Given the description of an element on the screen output the (x, y) to click on. 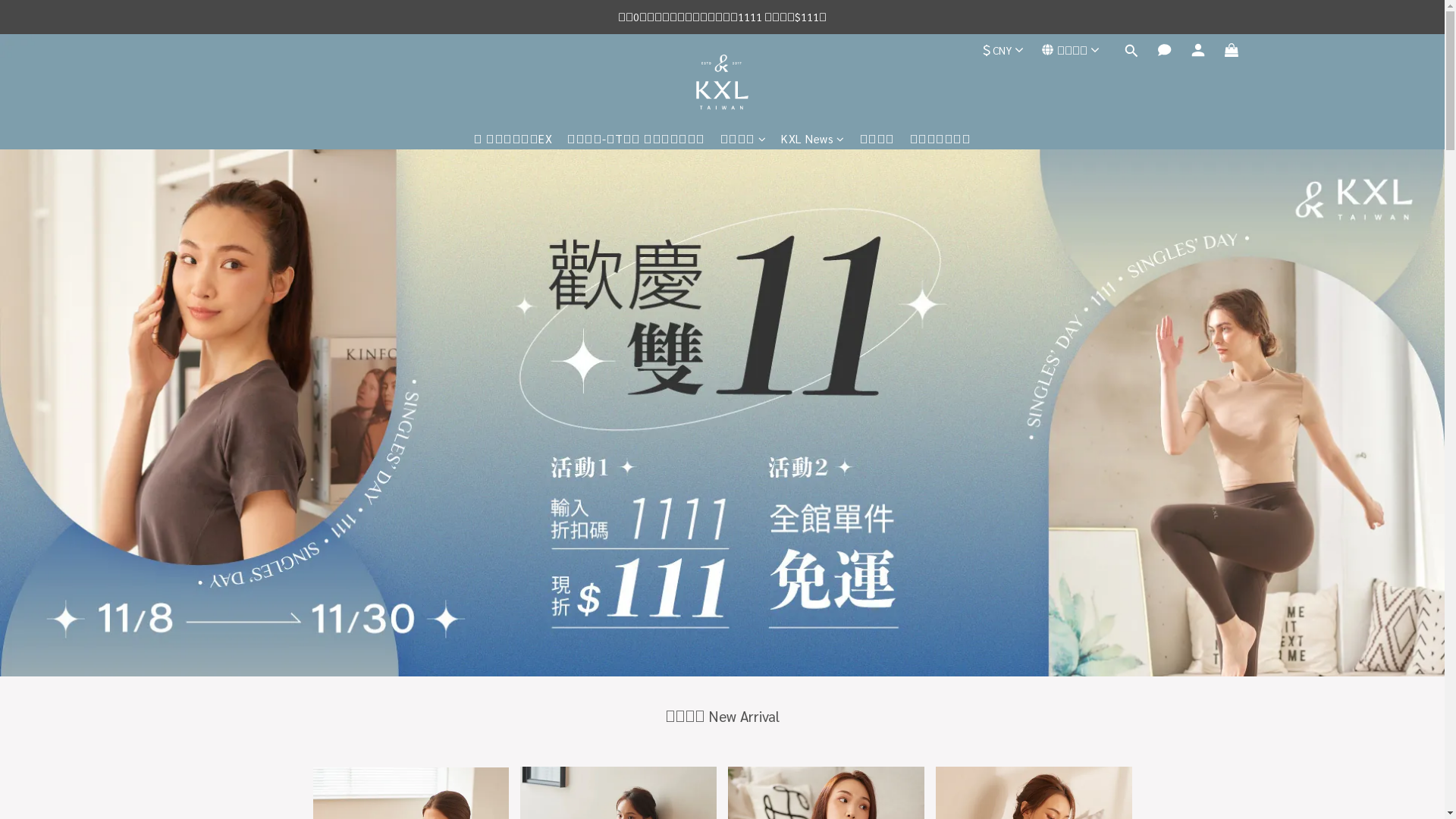
KXL News Element type: text (812, 138)
